Given the description of an element on the screen output the (x, y) to click on. 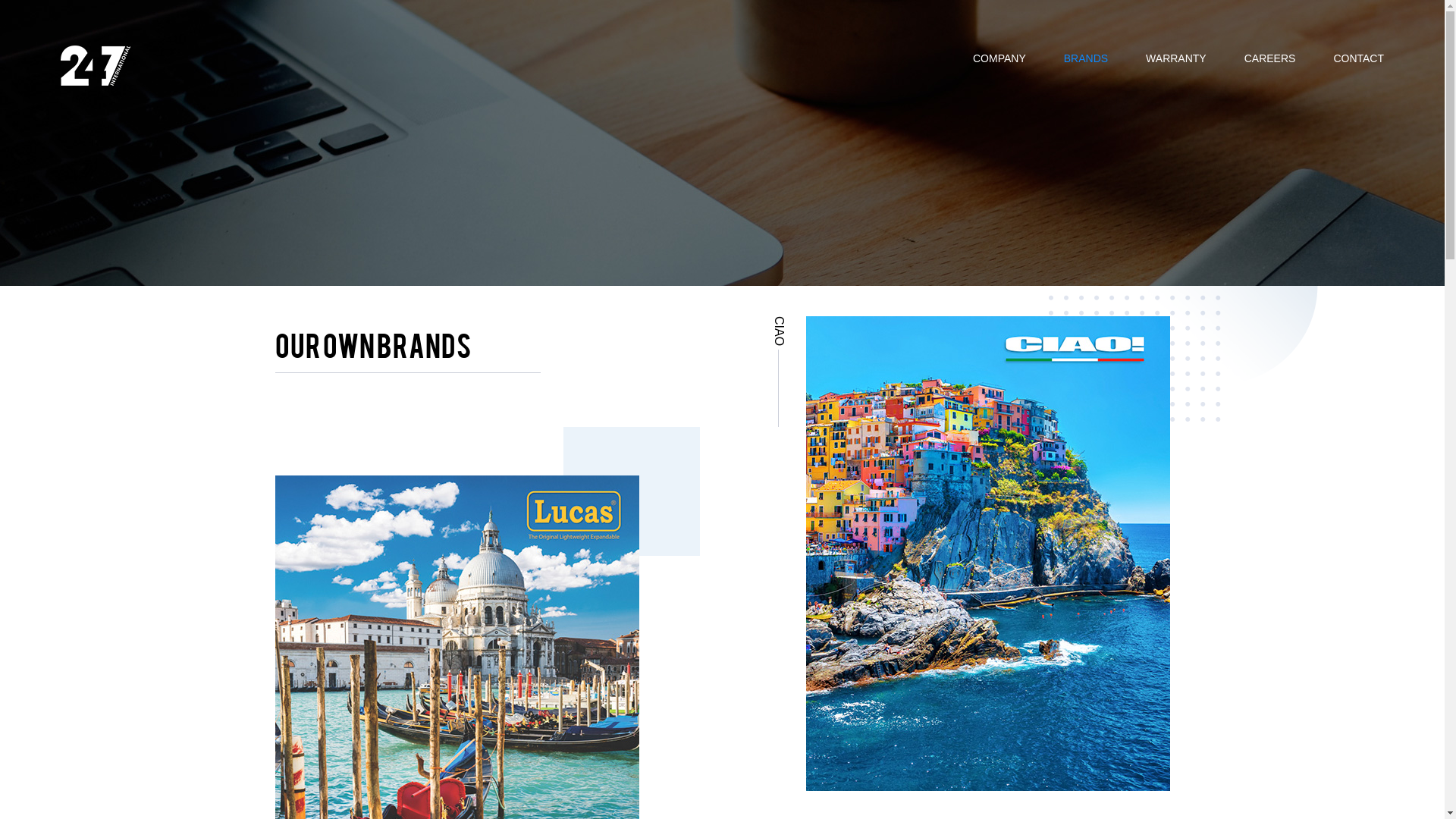
WARRANTY Element type: text (1175, 56)
CAREERS Element type: text (1269, 56)
CONTACT Element type: text (1358, 56)
COMPANY Element type: text (999, 56)
BRANDS Element type: text (1085, 56)
